Given the description of an element on the screen output the (x, y) to click on. 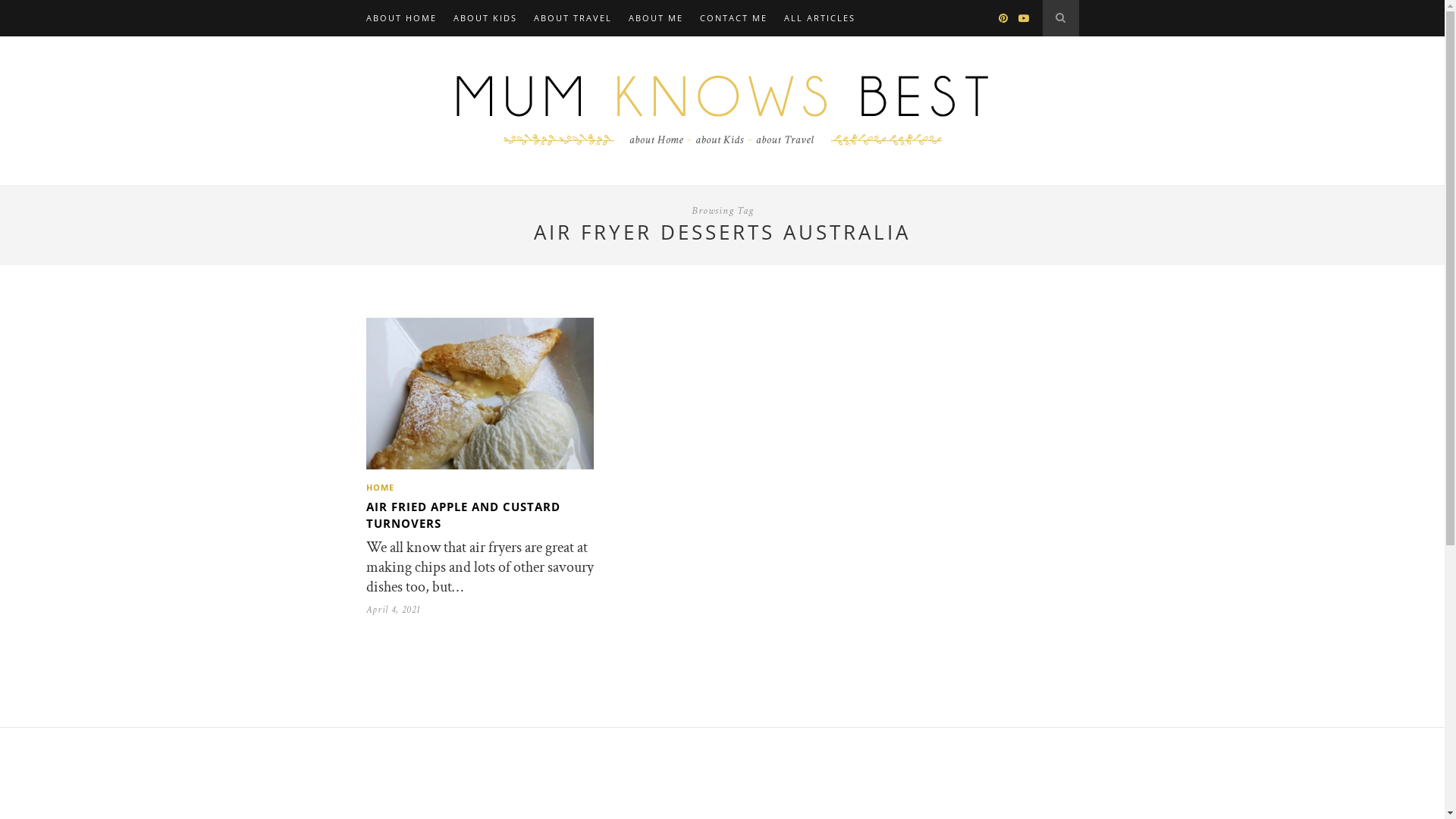
CONTACT ME Element type: text (732, 18)
ABOUT ME Element type: text (654, 18)
AIR FRIED APPLE AND CUSTARD TURNOVERS Element type: text (462, 514)
ABOUT HOME Element type: text (400, 18)
ABOUT KIDS Element type: text (485, 18)
HOME Element type: text (379, 486)
ABOUT TRAVEL Element type: text (572, 18)
ALL ARTICLES Element type: text (819, 18)
